Given the description of an element on the screen output the (x, y) to click on. 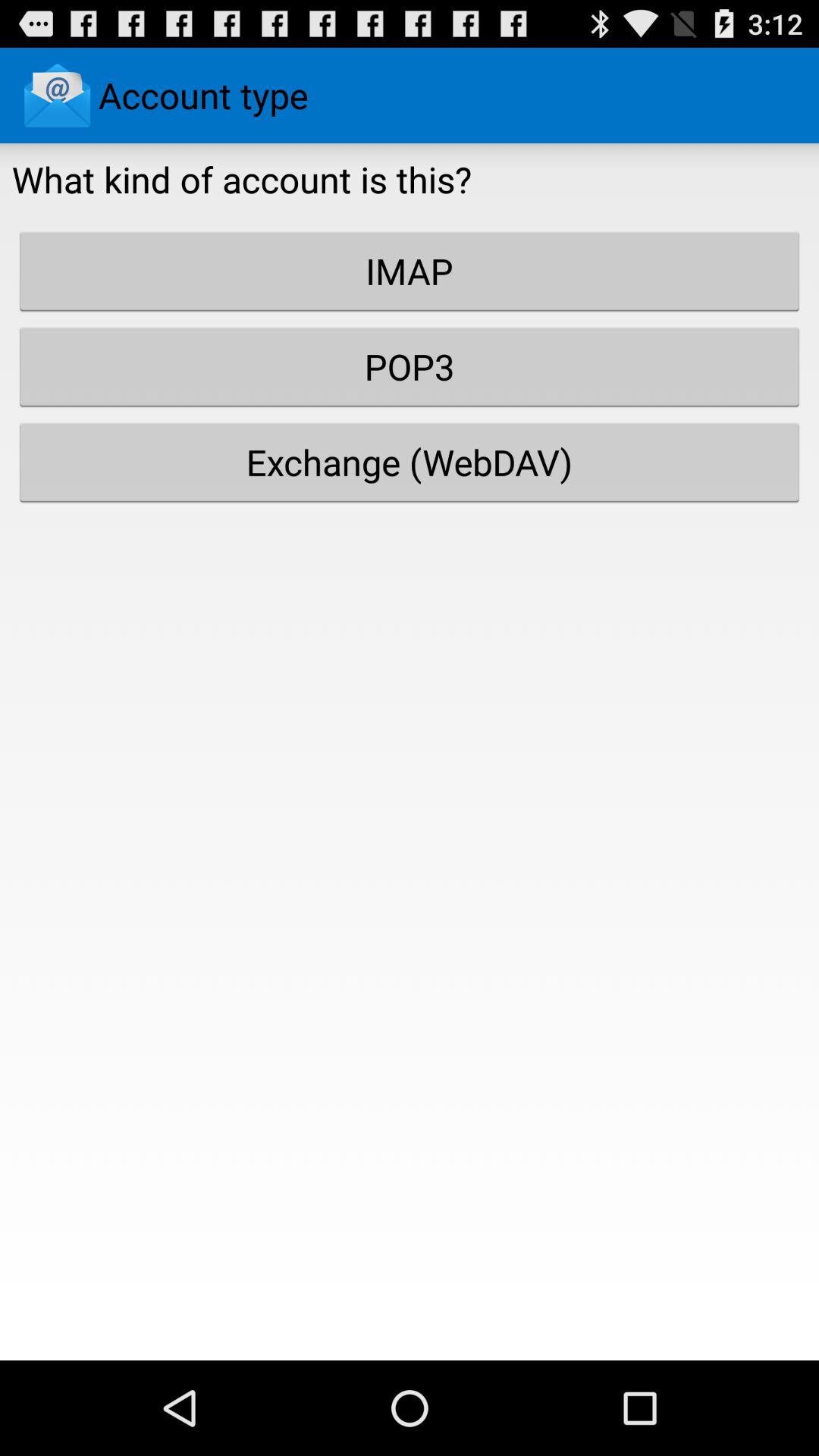
tap the button above exchange (webdav) item (409, 366)
